Given the description of an element on the screen output the (x, y) to click on. 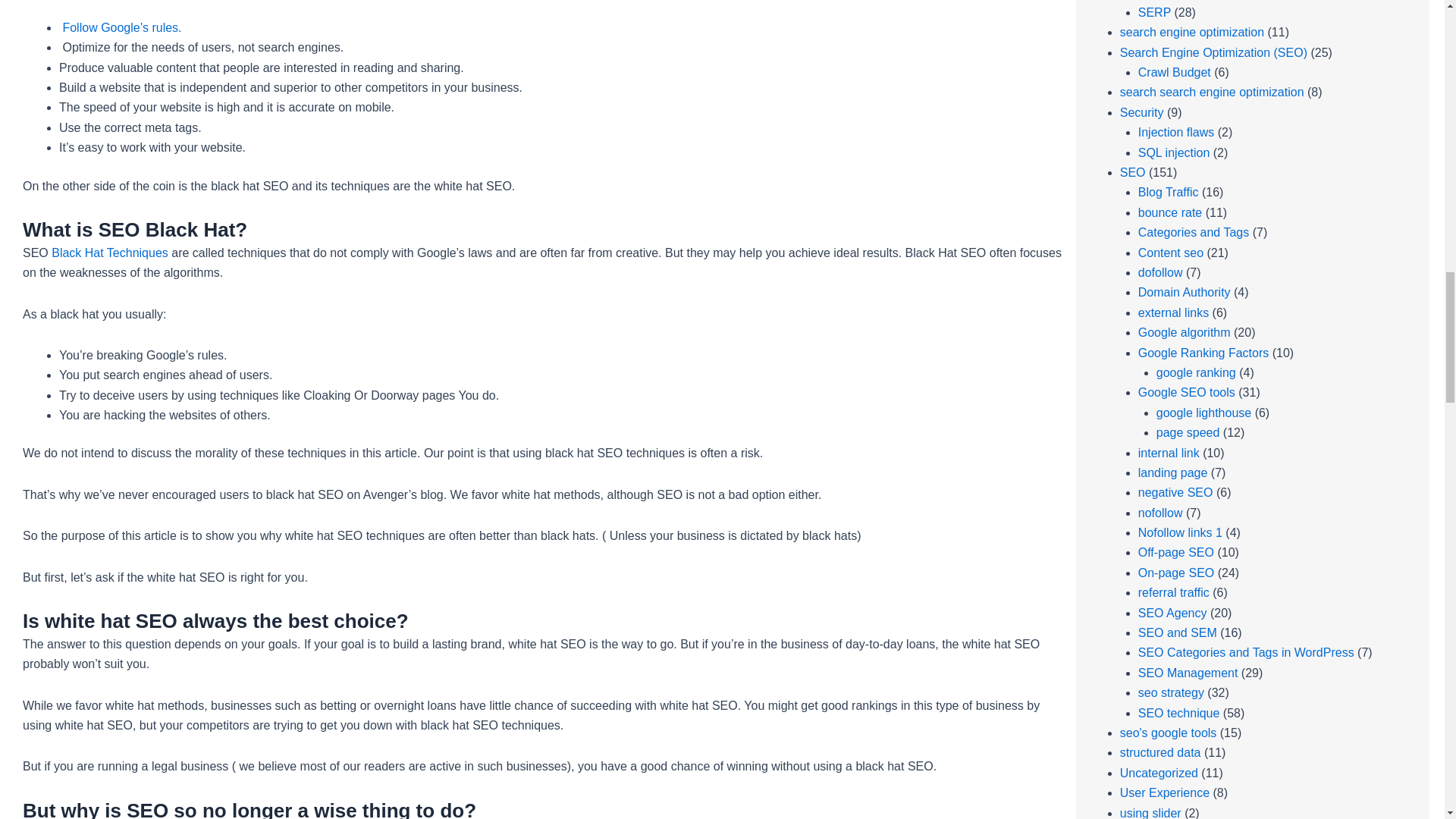
Black Hat Techniques (109, 252)
